Given the description of an element on the screen output the (x, y) to click on. 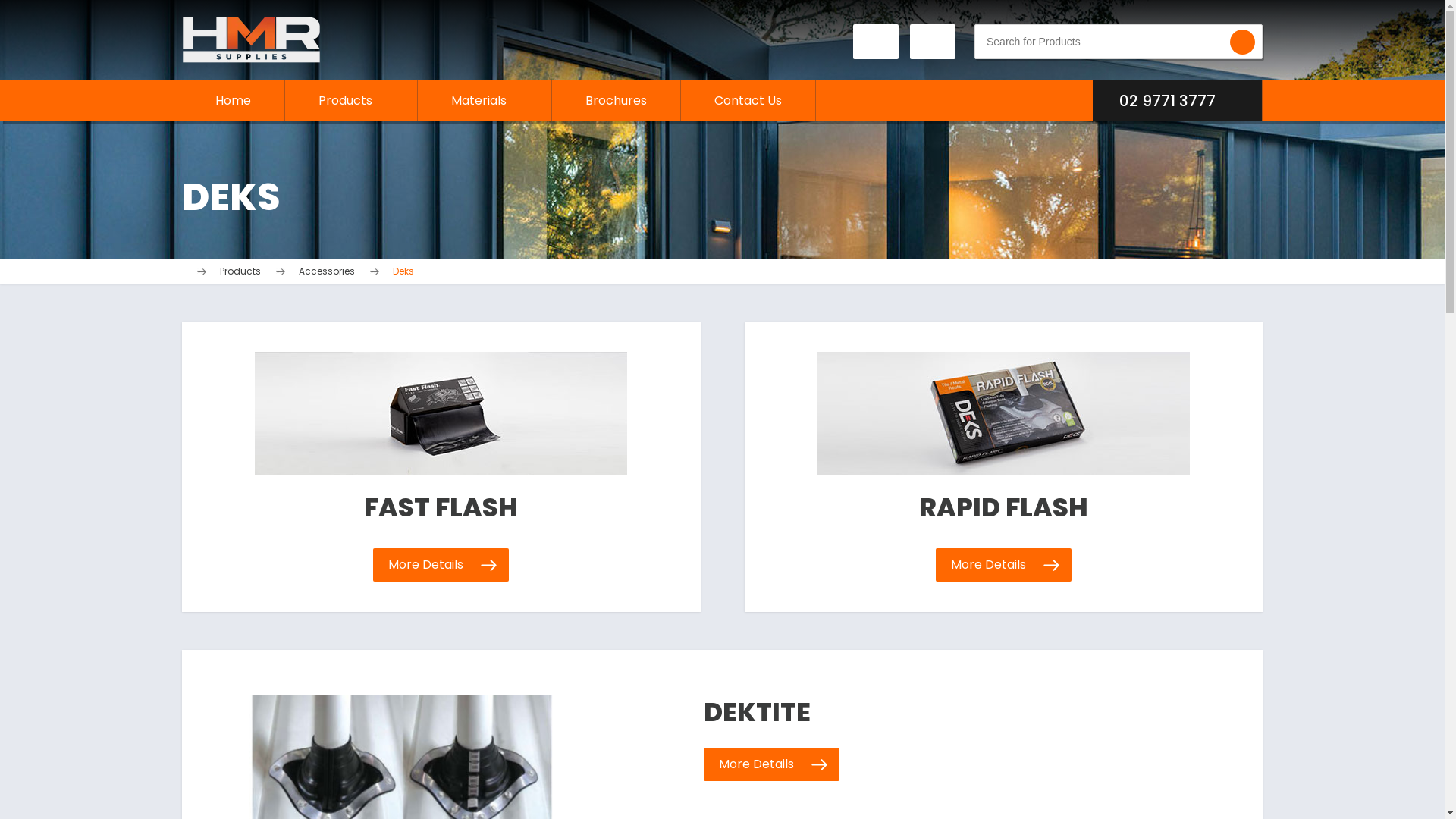
Products Element type: text (239, 271)
Contact Us Element type: text (747, 100)
Home Element type: text (233, 100)
FAST FLASH
More Details Element type: text (441, 466)
RAPID FLASH
More Details Element type: text (1003, 466)
Materials Element type: text (484, 100)
02 9771 3777 Element type: text (1168, 100)
Accessories Element type: text (326, 271)
Products Element type: text (351, 100)
Brochures Element type: text (616, 100)
